Given the description of an element on the screen output the (x, y) to click on. 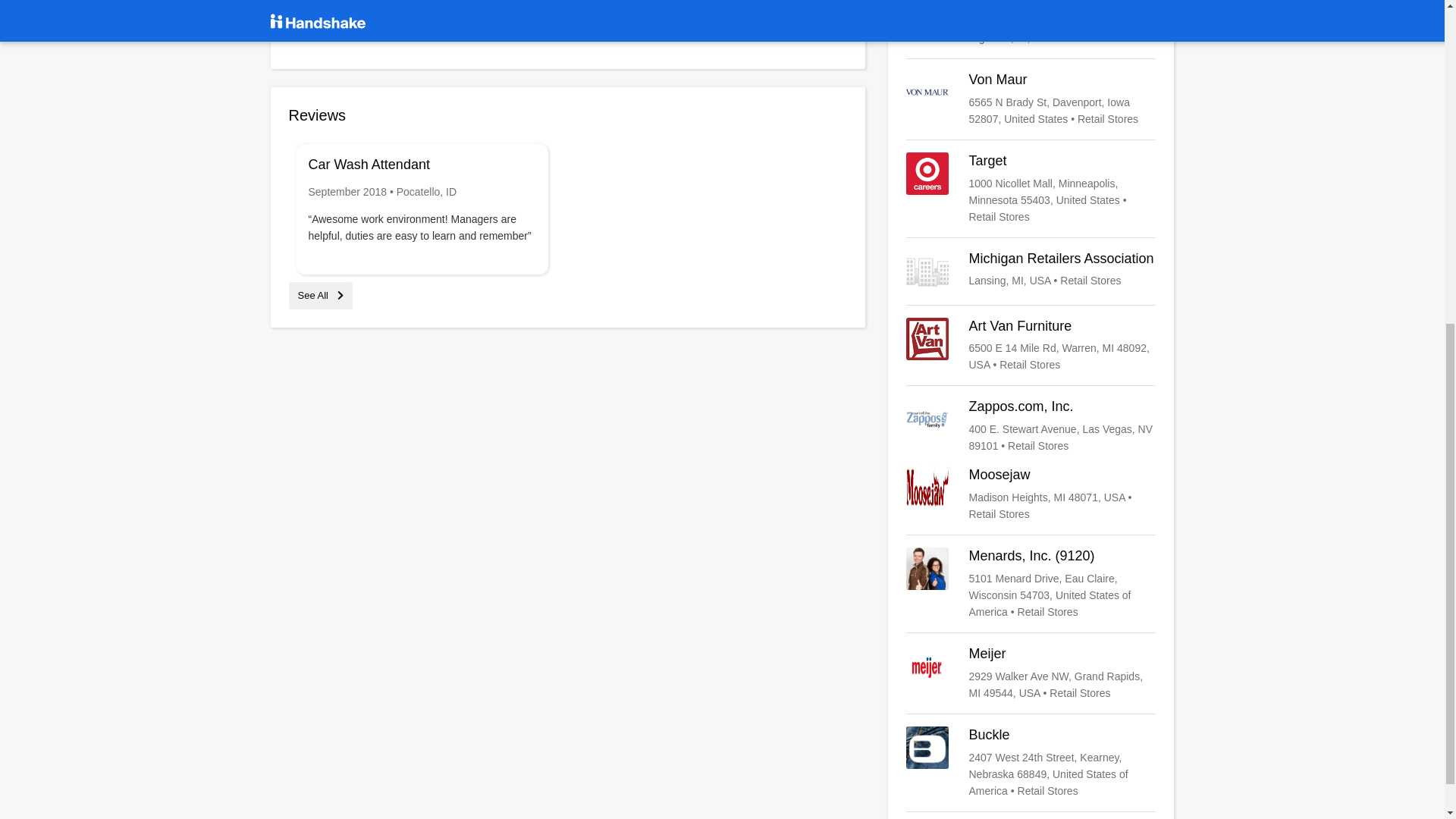
Von Maur (1030, 99)
Meijer (1030, 673)
Target (1030, 188)
Michigan Retailers Association (1030, 271)
Art Van Furniture (1030, 345)
Buckle (1030, 762)
See All (320, 295)
Zappos.com, Inc. (1030, 426)
Moosejaw (1030, 494)
